Given the description of an element on the screen output the (x, y) to click on. 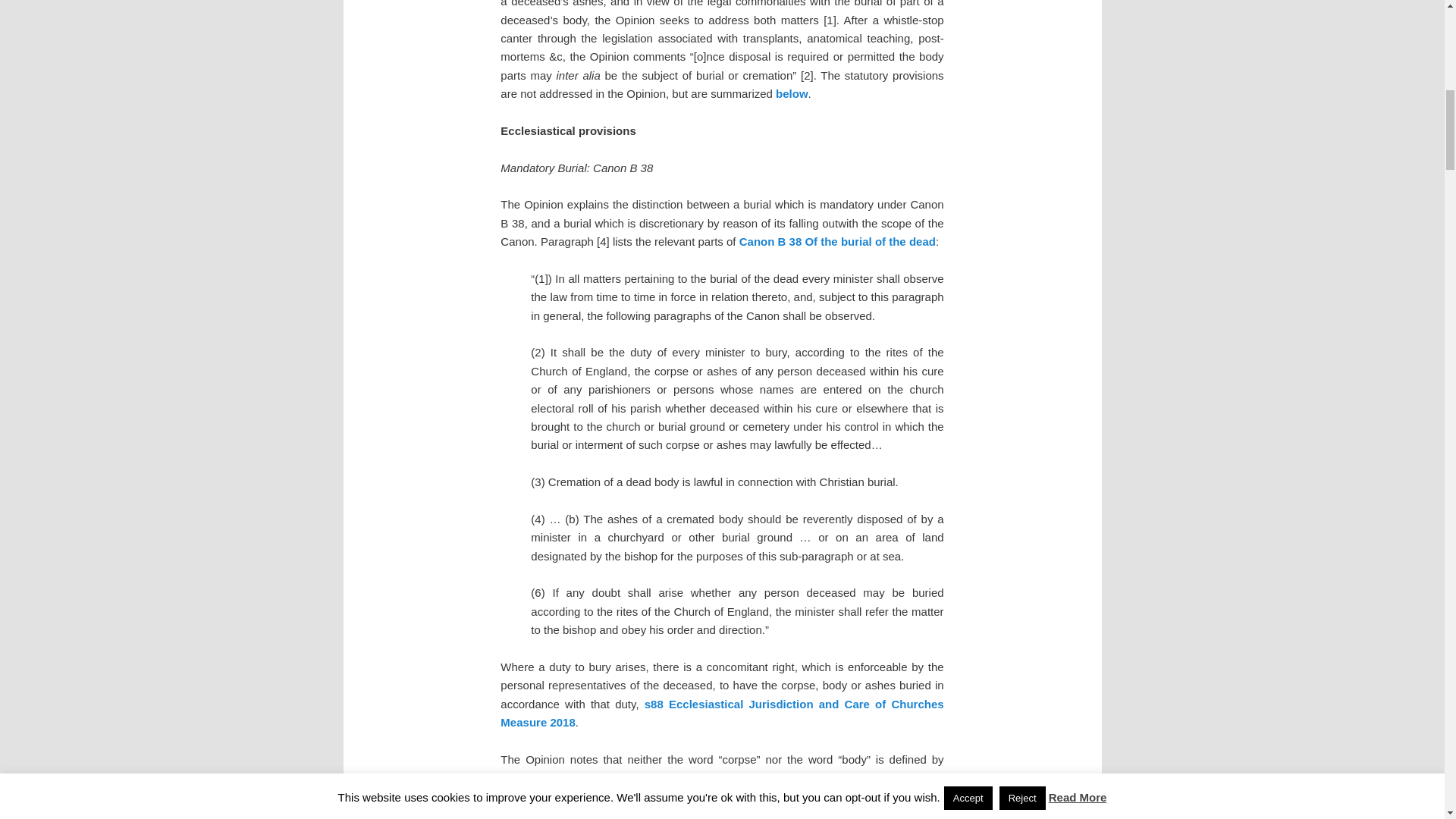
Canon B 38 Of the burial of the dead (837, 241)
below (792, 92)
